Given the description of an element on the screen output the (x, y) to click on. 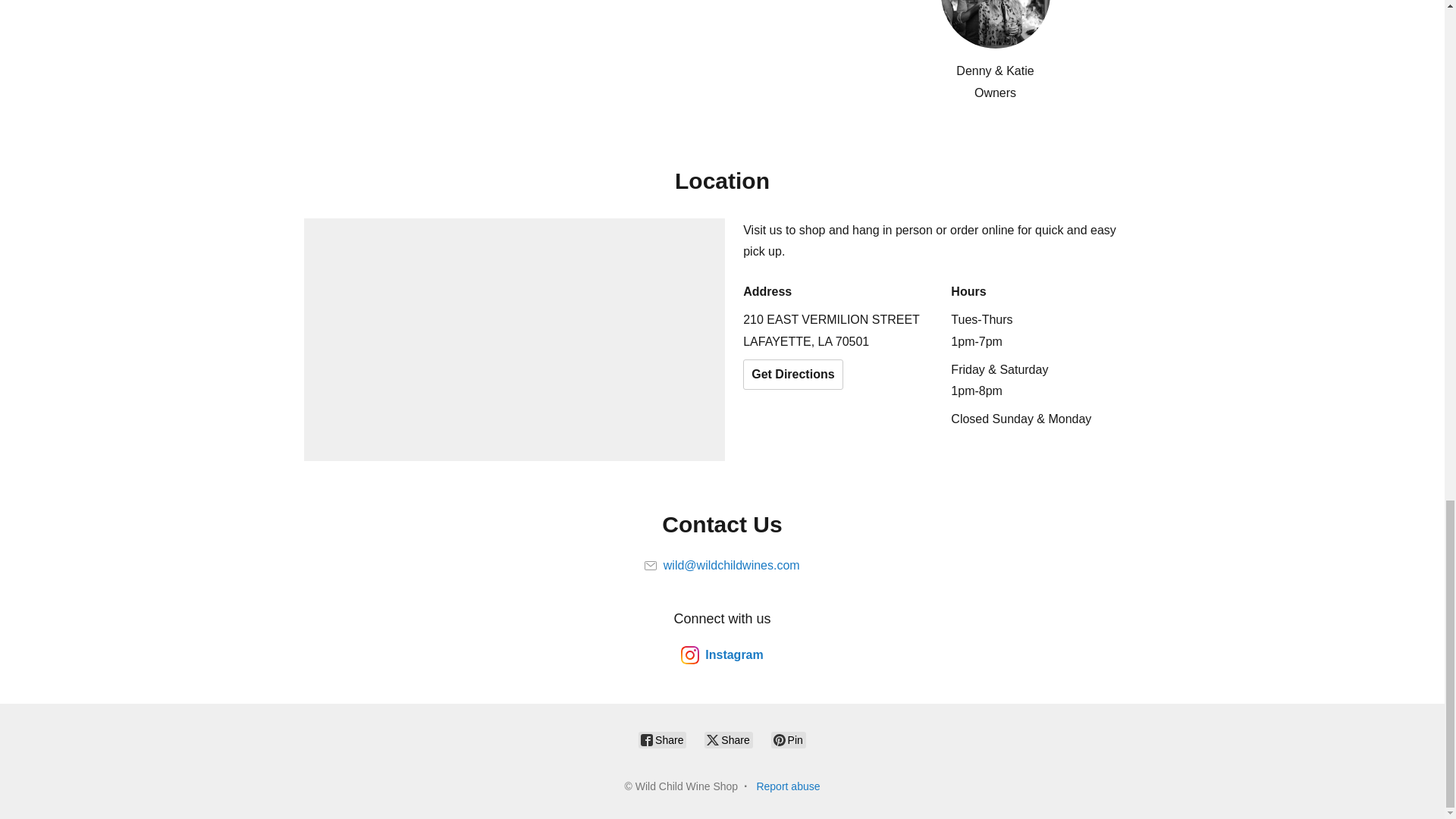
Location on map (513, 339)
Instagram (721, 655)
Report abuse (787, 786)
Pin (788, 740)
Get Directions (792, 374)
Share (662, 740)
Share (728, 740)
